Given the description of an element on the screen output the (x, y) to click on. 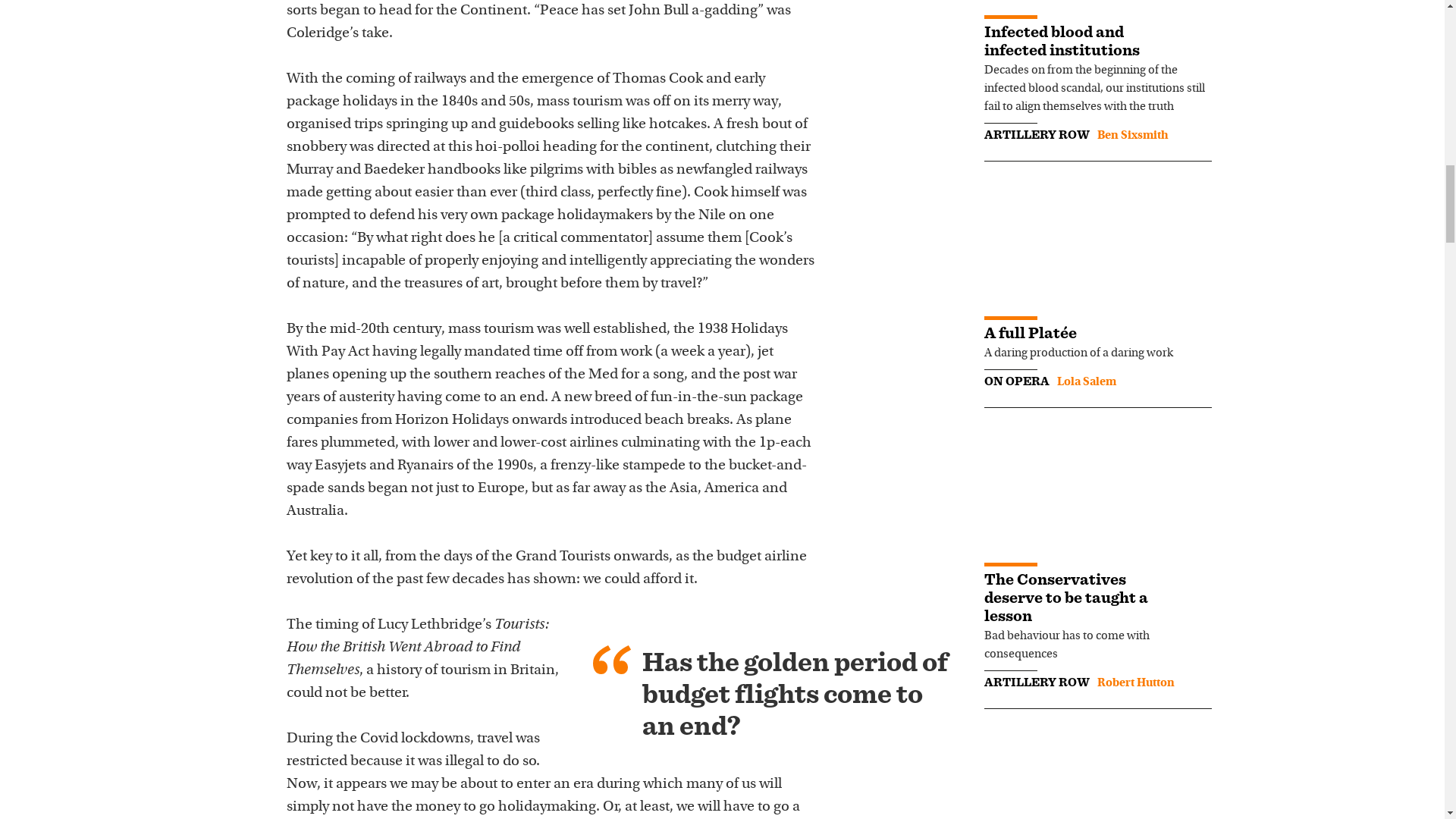
Posts by Robert Hutton (1134, 683)
Posts by Lola Salem (1086, 381)
Posts by Ben Sixsmith (1131, 135)
